Given the description of an element on the screen output the (x, y) to click on. 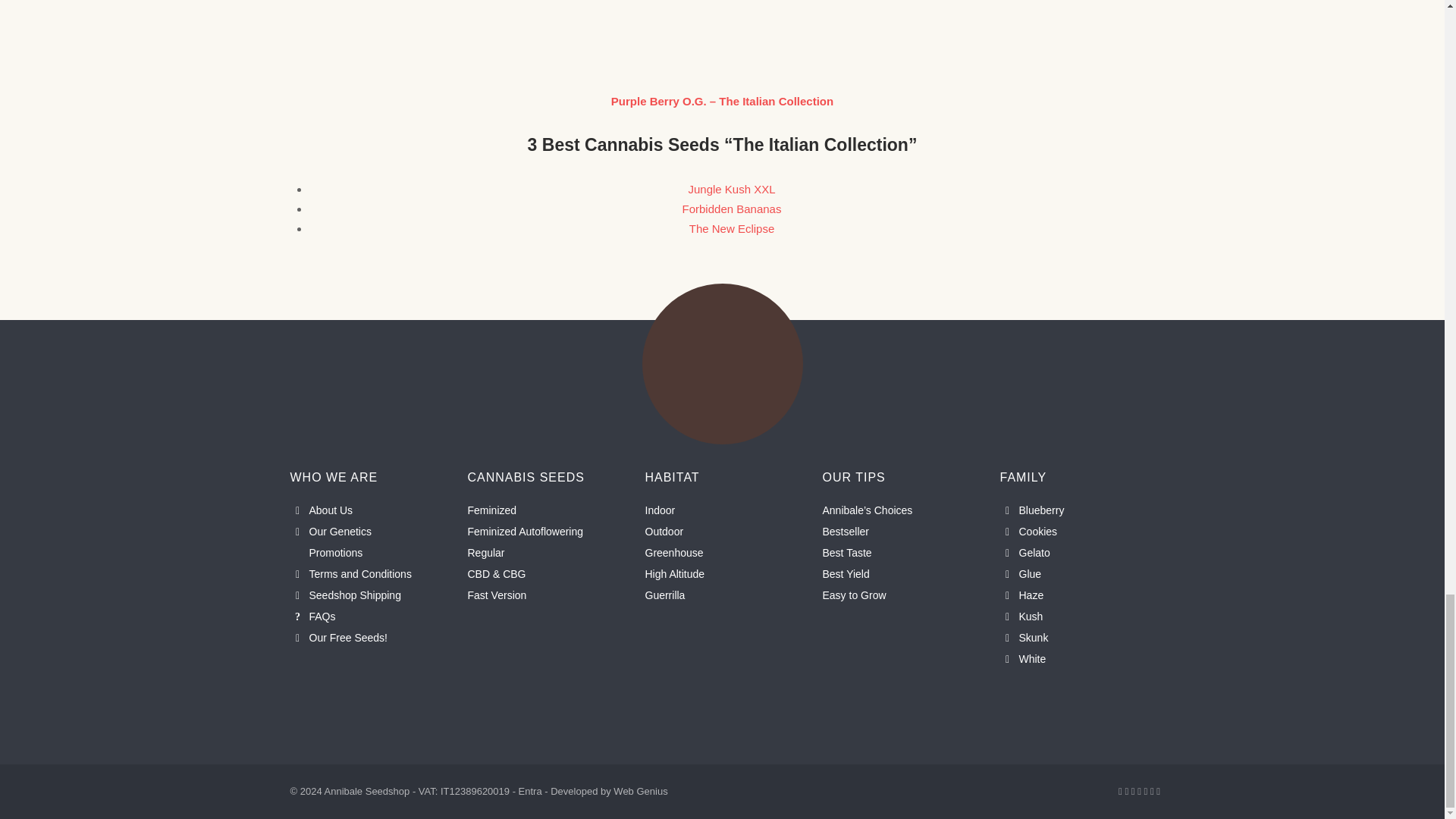
Logo Footer 300 New (722, 363)
